Given the description of an element on the screen output the (x, y) to click on. 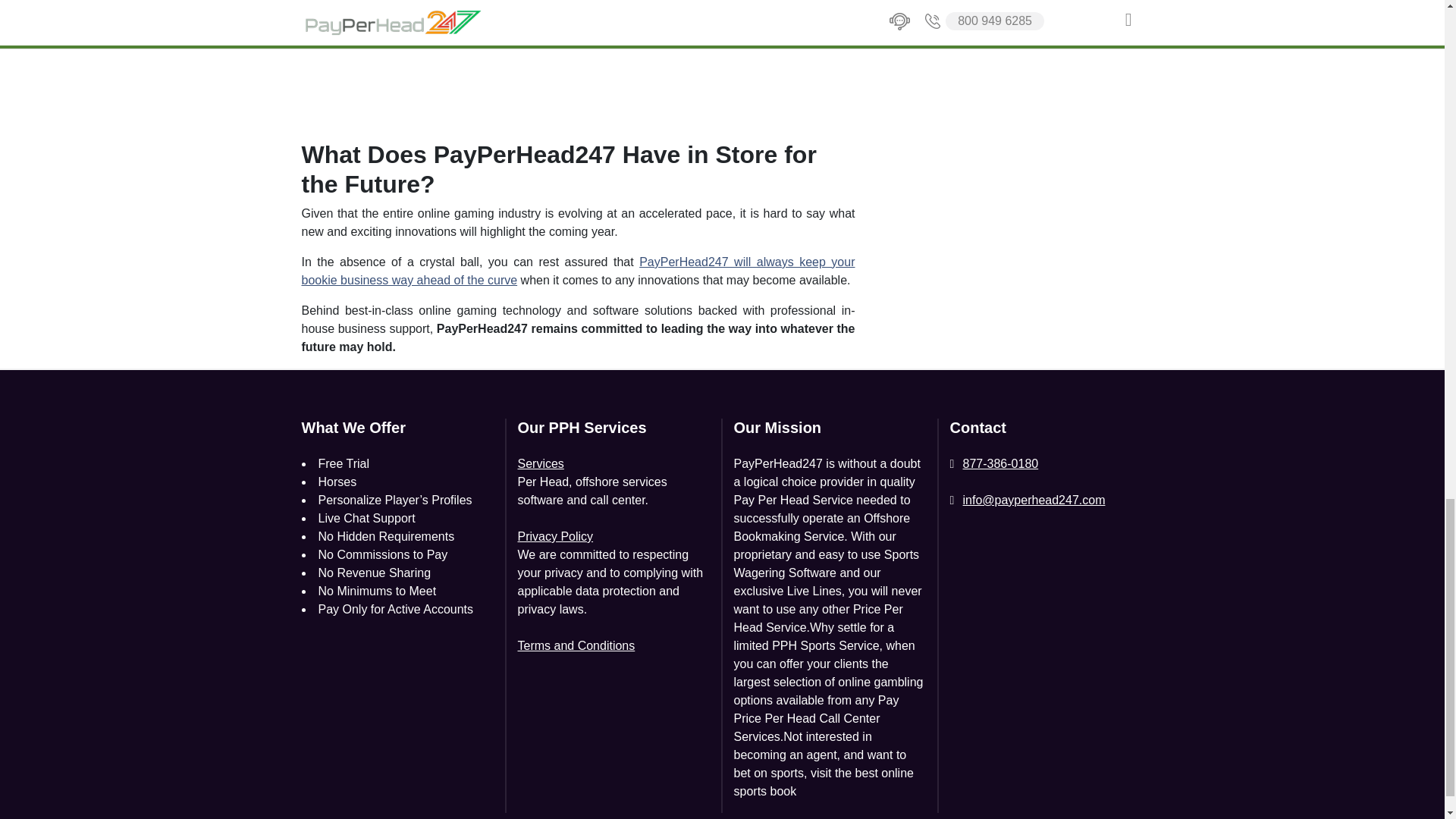
877-386-0180 (993, 464)
This is how Pay Per Head works (491, 61)
Services (539, 464)
Terms and Conditions (575, 646)
Privacy Policy (554, 536)
